Given the description of an element on the screen output the (x, y) to click on. 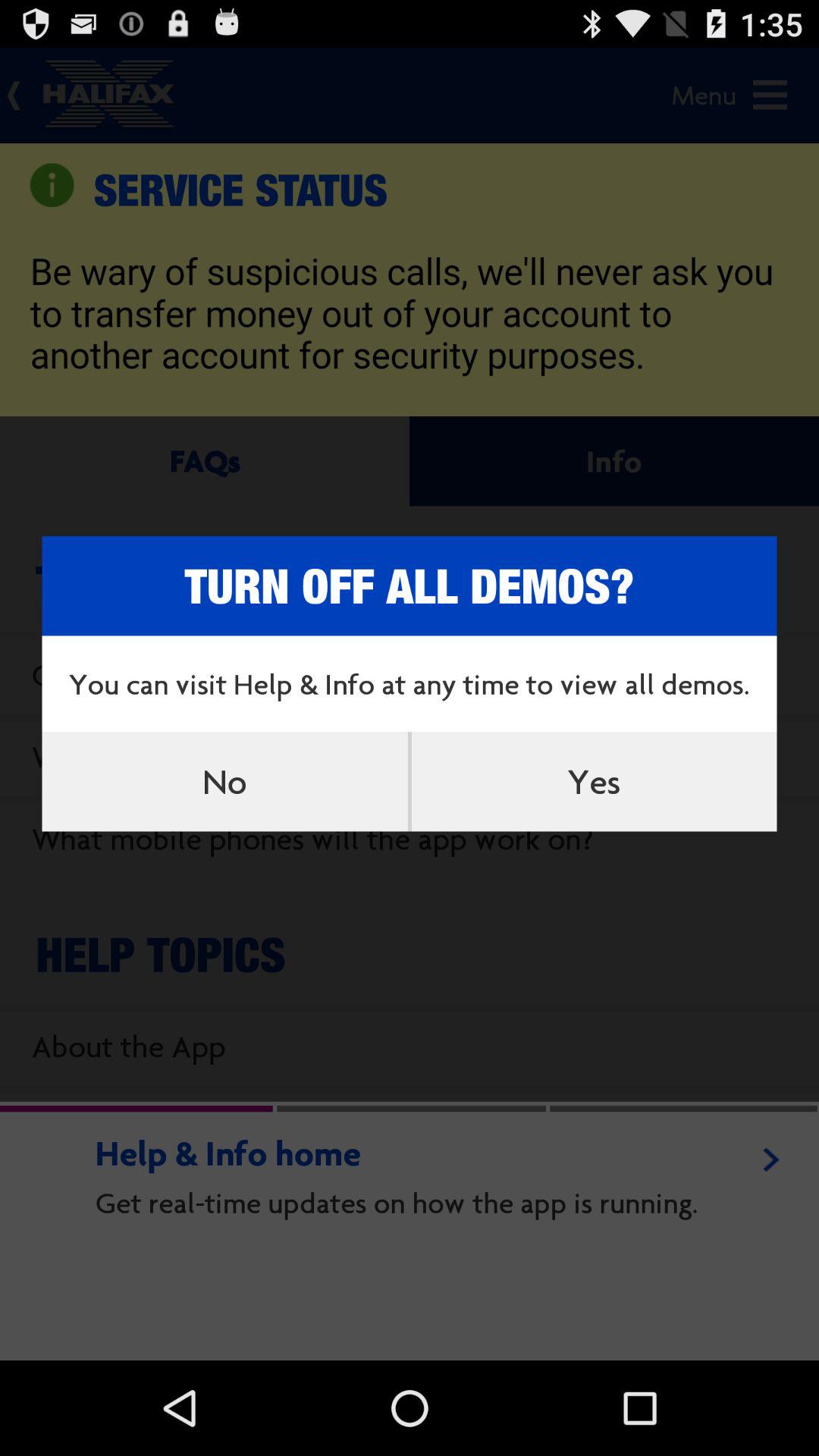
launch icon below the you can visit item (224, 781)
